Given the description of an element on the screen output the (x, y) to click on. 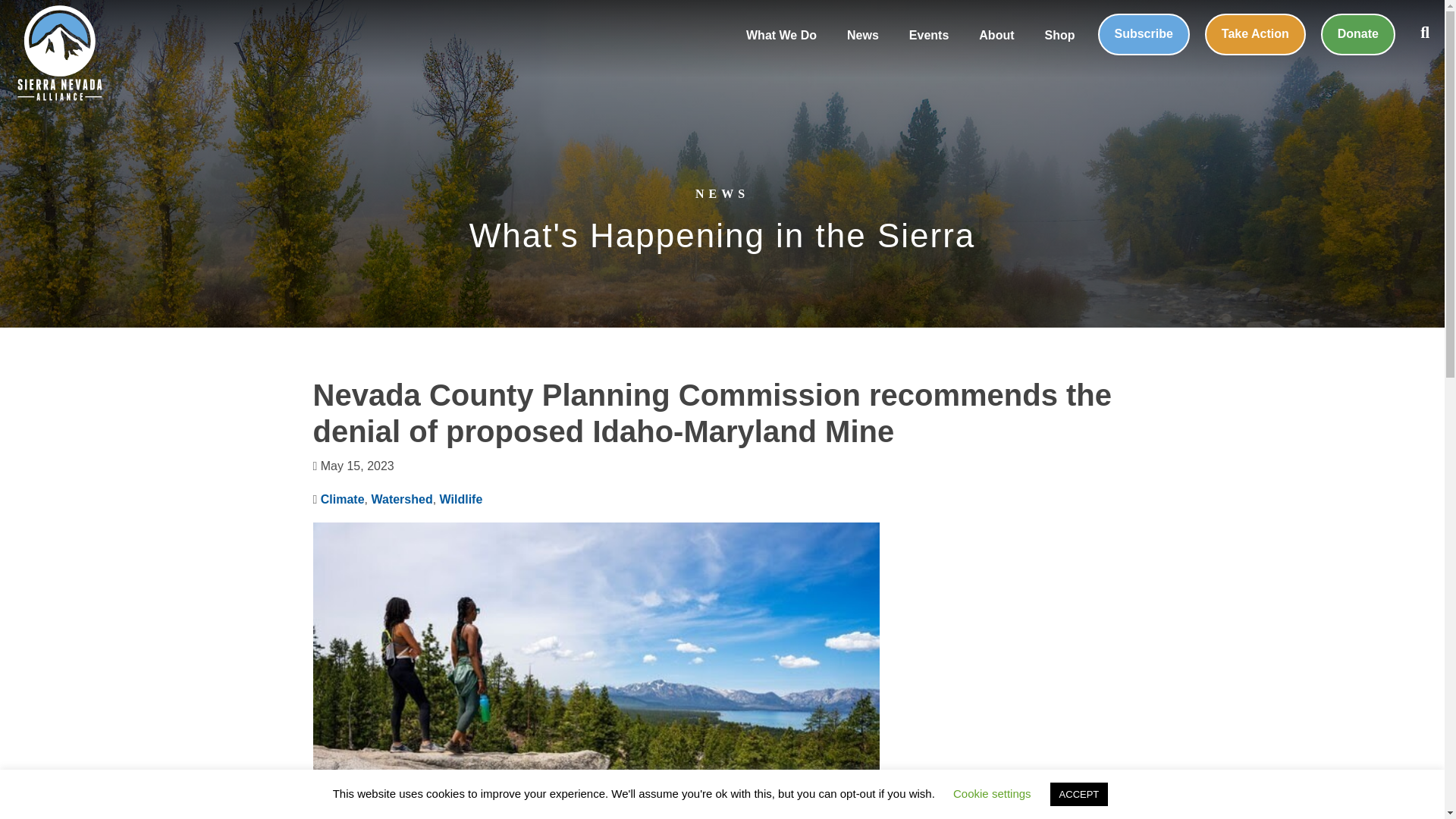
What We Do (780, 35)
Events (928, 35)
About (996, 35)
News (862, 35)
Shop (1059, 35)
